Given the description of an element on the screen output the (x, y) to click on. 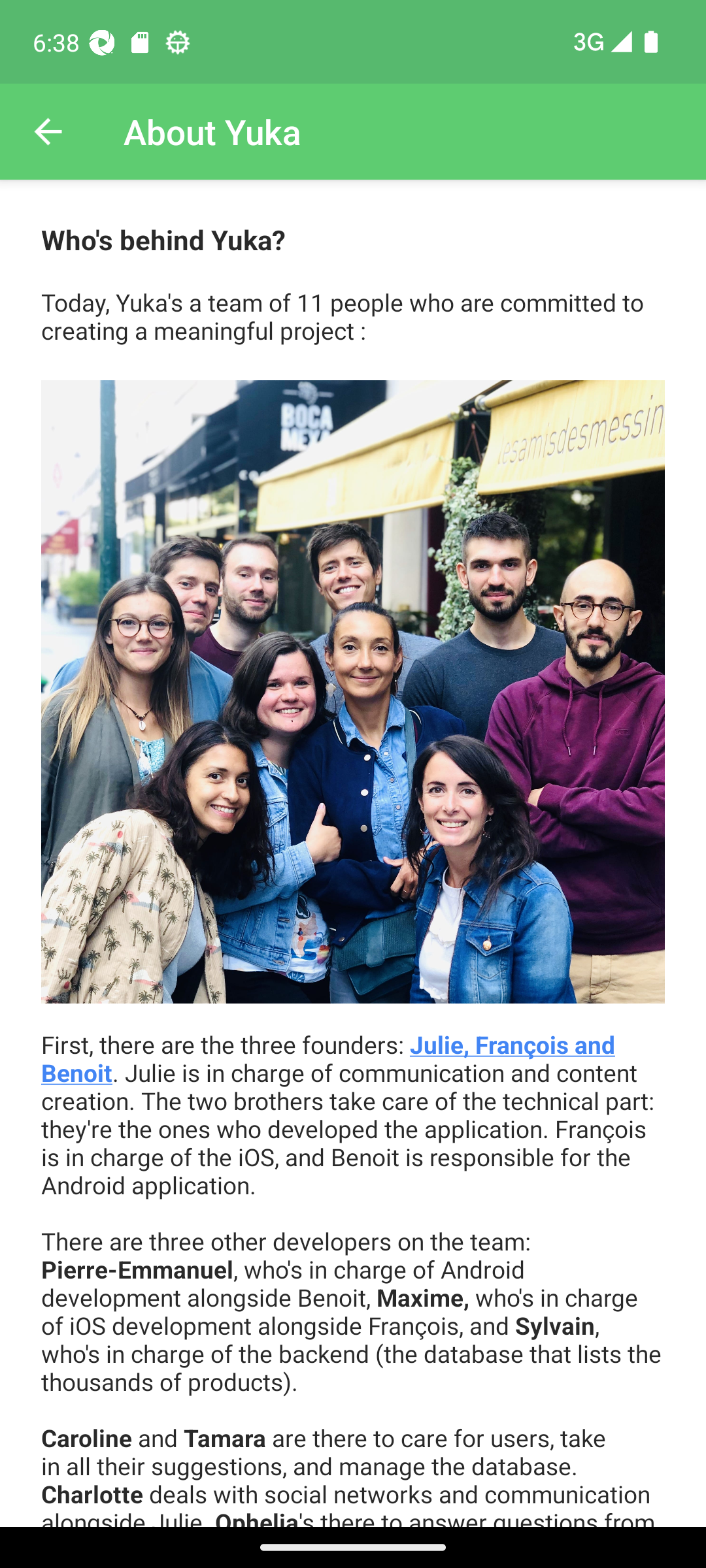
Navigate up (48, 131)
